Given the description of an element on the screen output the (x, y) to click on. 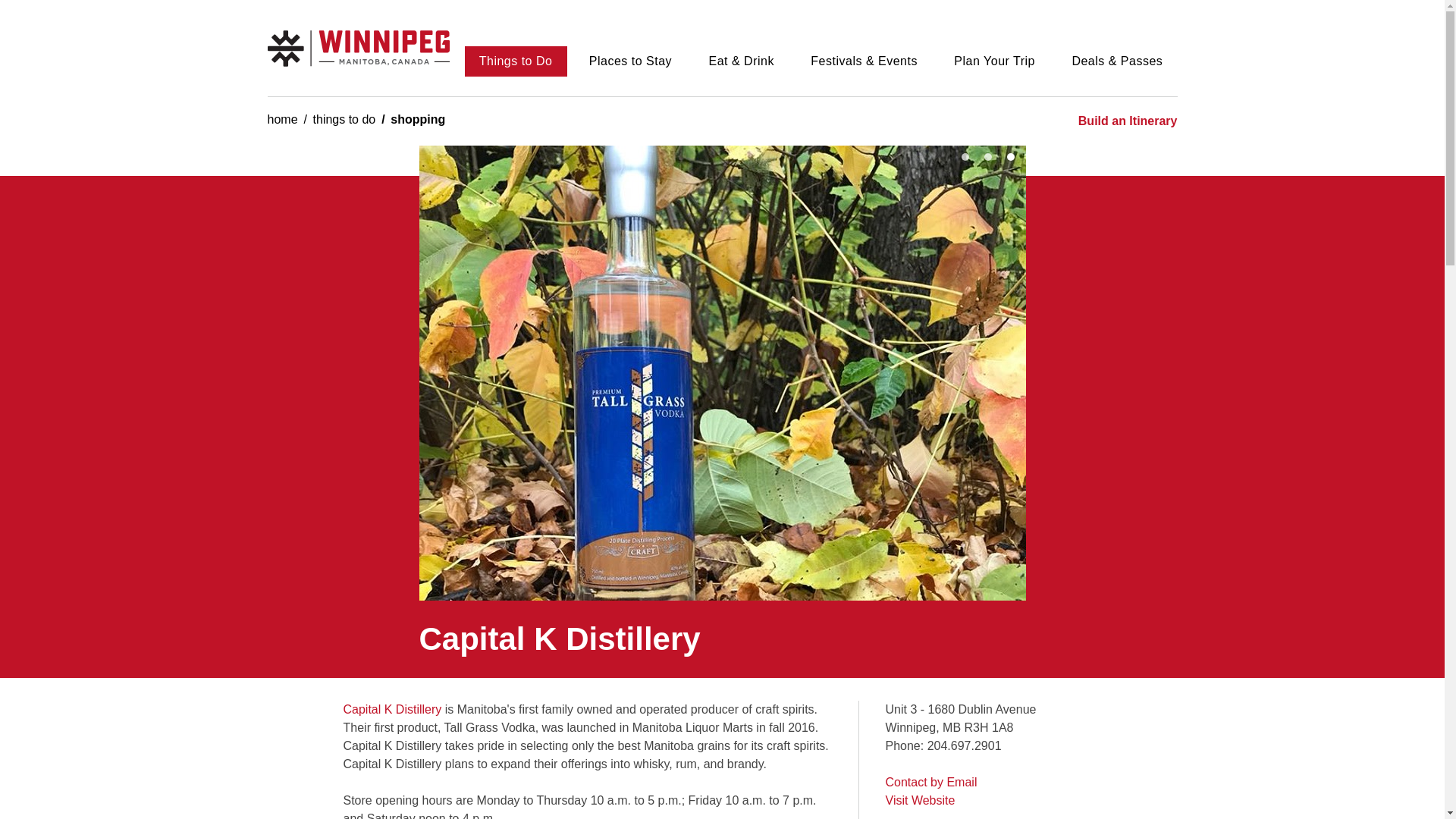
Things to Do (515, 60)
Places to Stay (631, 60)
Plan Your Trip (994, 60)
